Given the description of an element on the screen output the (x, y) to click on. 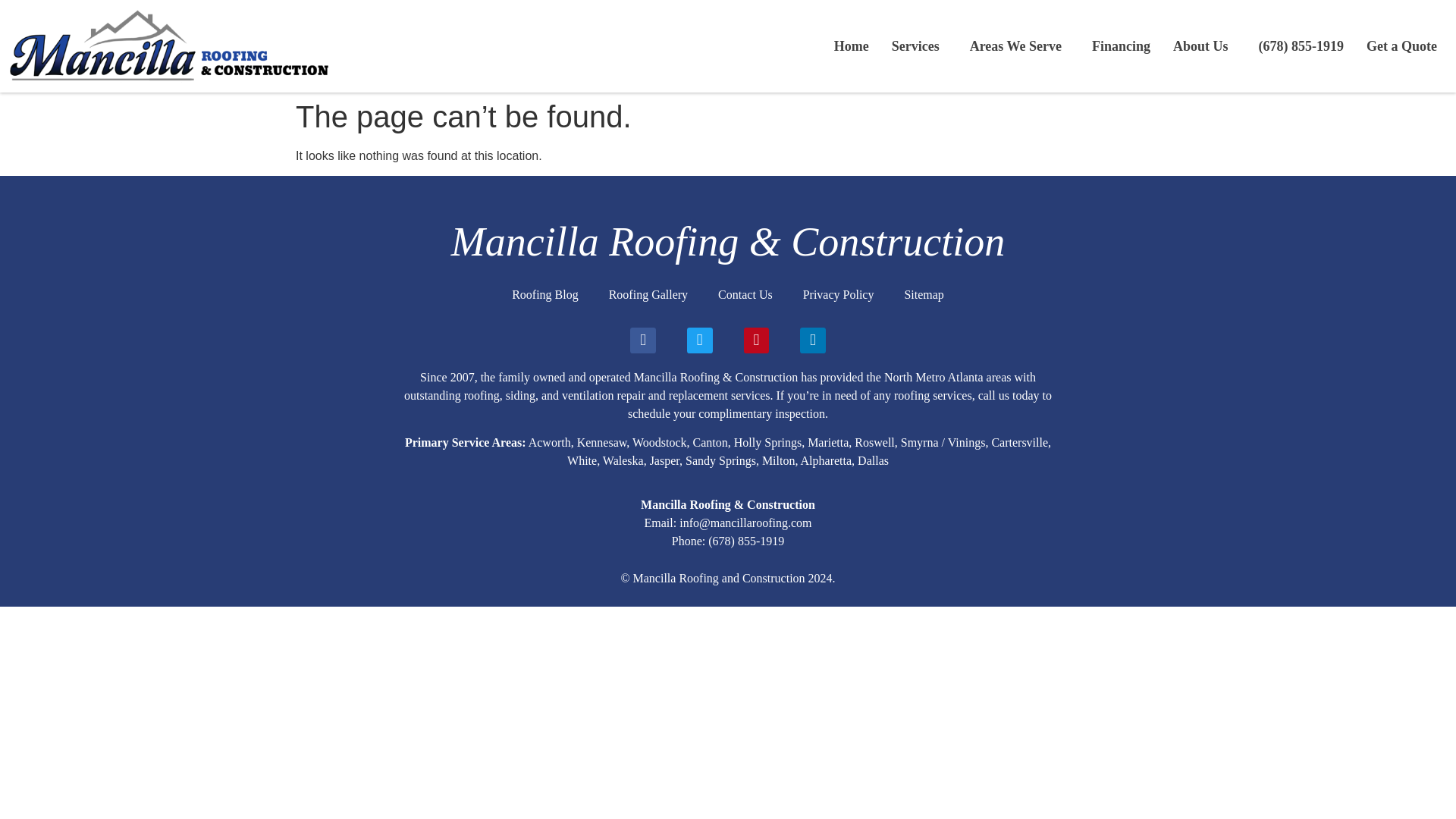
Financing (1120, 45)
Get a Quote (1401, 45)
Home (851, 45)
About Us (1204, 45)
Areas We Serve (1019, 45)
Services (919, 45)
